Given the description of an element on the screen output the (x, y) to click on. 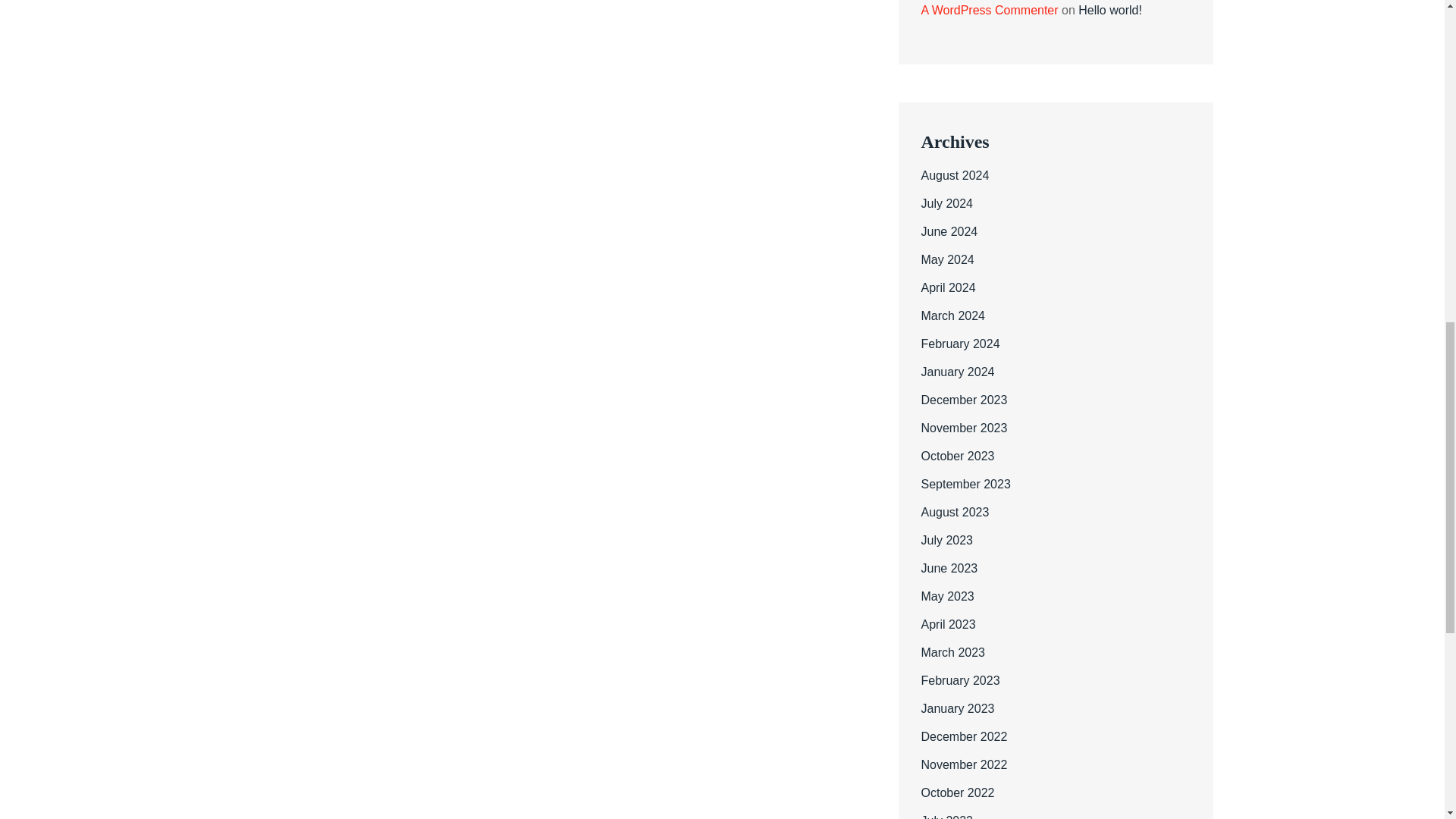
April 2023 (947, 624)
January 2023 (957, 707)
November 2023 (963, 427)
December 2023 (963, 399)
January 2024 (957, 371)
February 2024 (959, 343)
August 2023 (954, 512)
February 2023 (959, 680)
A WordPress Commenter (989, 10)
October 2023 (957, 455)
